Given the description of an element on the screen output the (x, y) to click on. 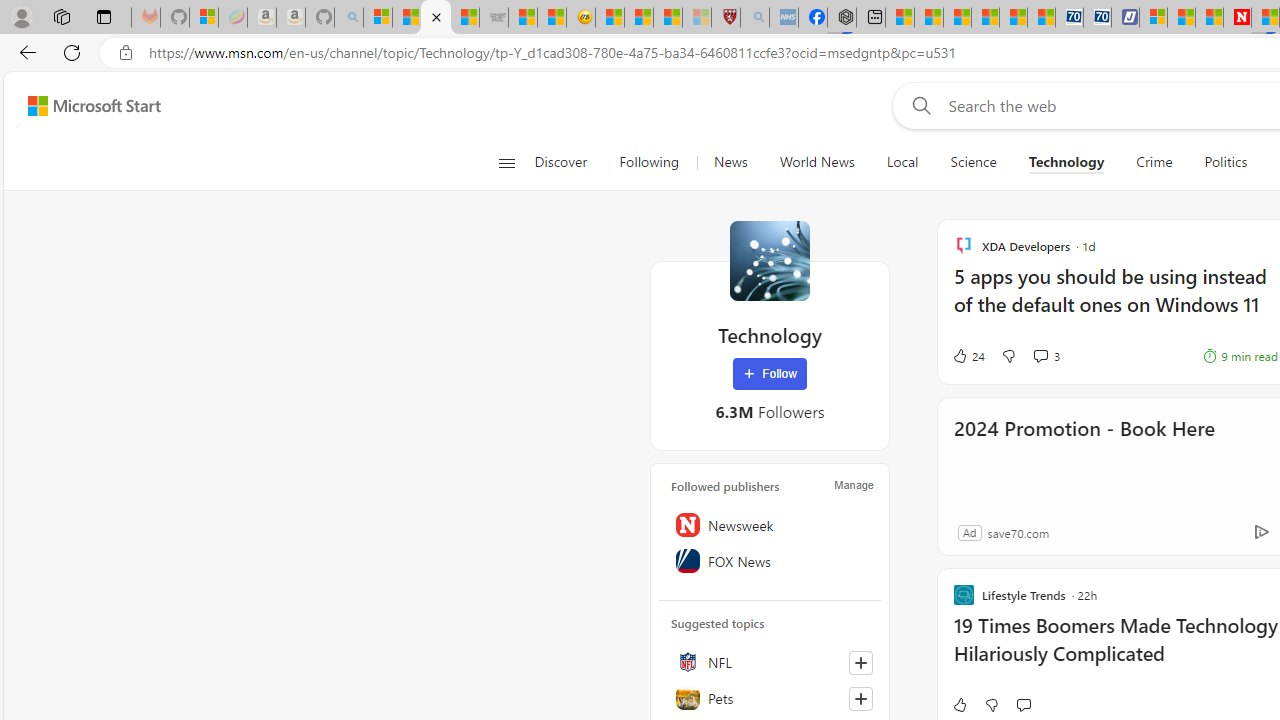
Follow (769, 373)
24 Like (968, 355)
